Given the description of an element on the screen output the (x, y) to click on. 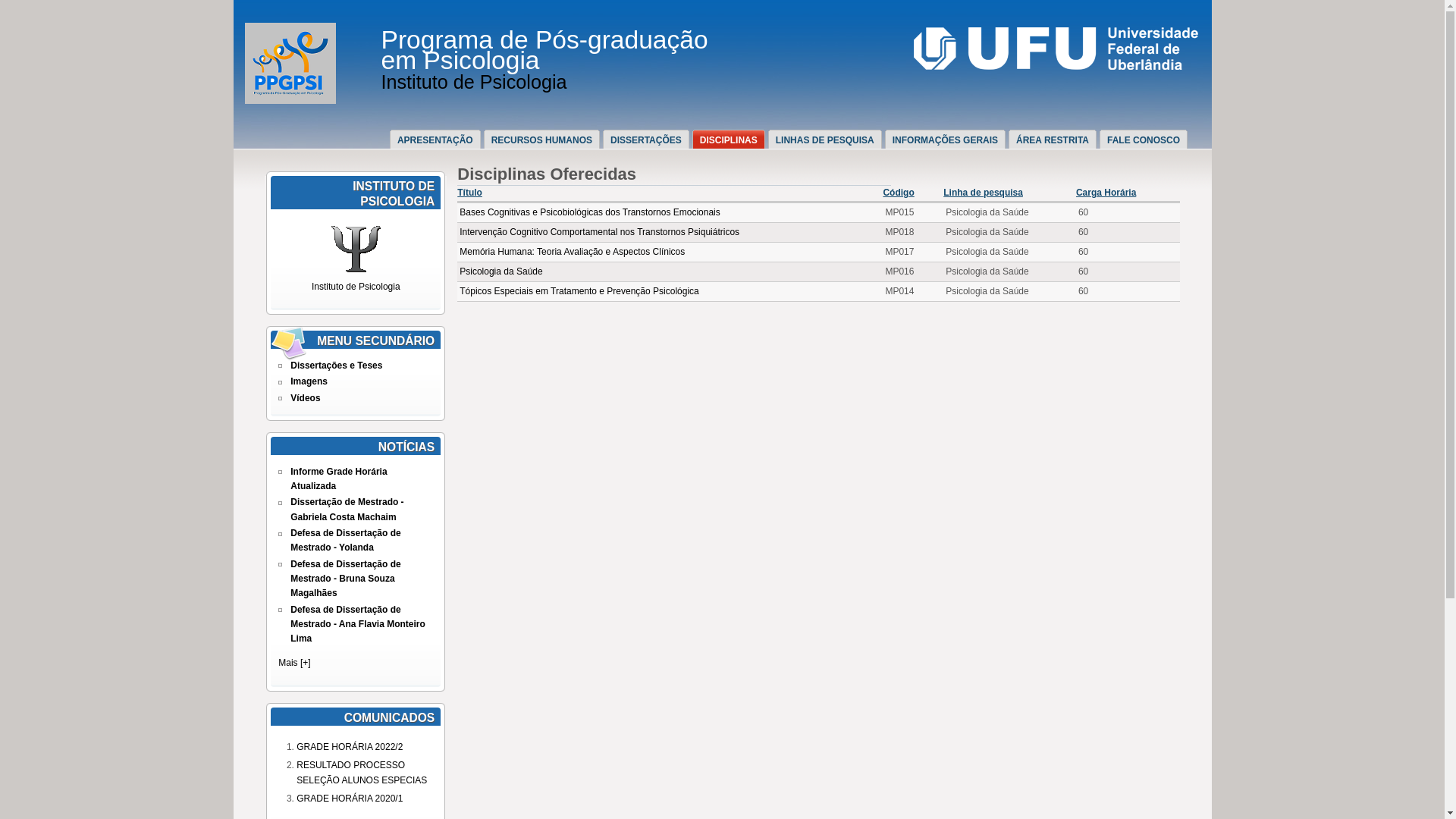
Instituto de Psicologia Element type: text (473, 81)
DISCIPLINAS Element type: text (732, 138)
Mais [+] Element type: text (294, 662)
Linha de pesquisa Element type: text (982, 192)
Imagens Element type: text (308, 381)
Instituto de Psicologia Element type: text (355, 278)
LINHAS DE PESQUISA Element type: text (828, 138)
RECURSOS HUMANOS Element type: text (545, 138)
FALE CONOSCO Element type: text (1147, 138)
